Given the description of an element on the screen output the (x, y) to click on. 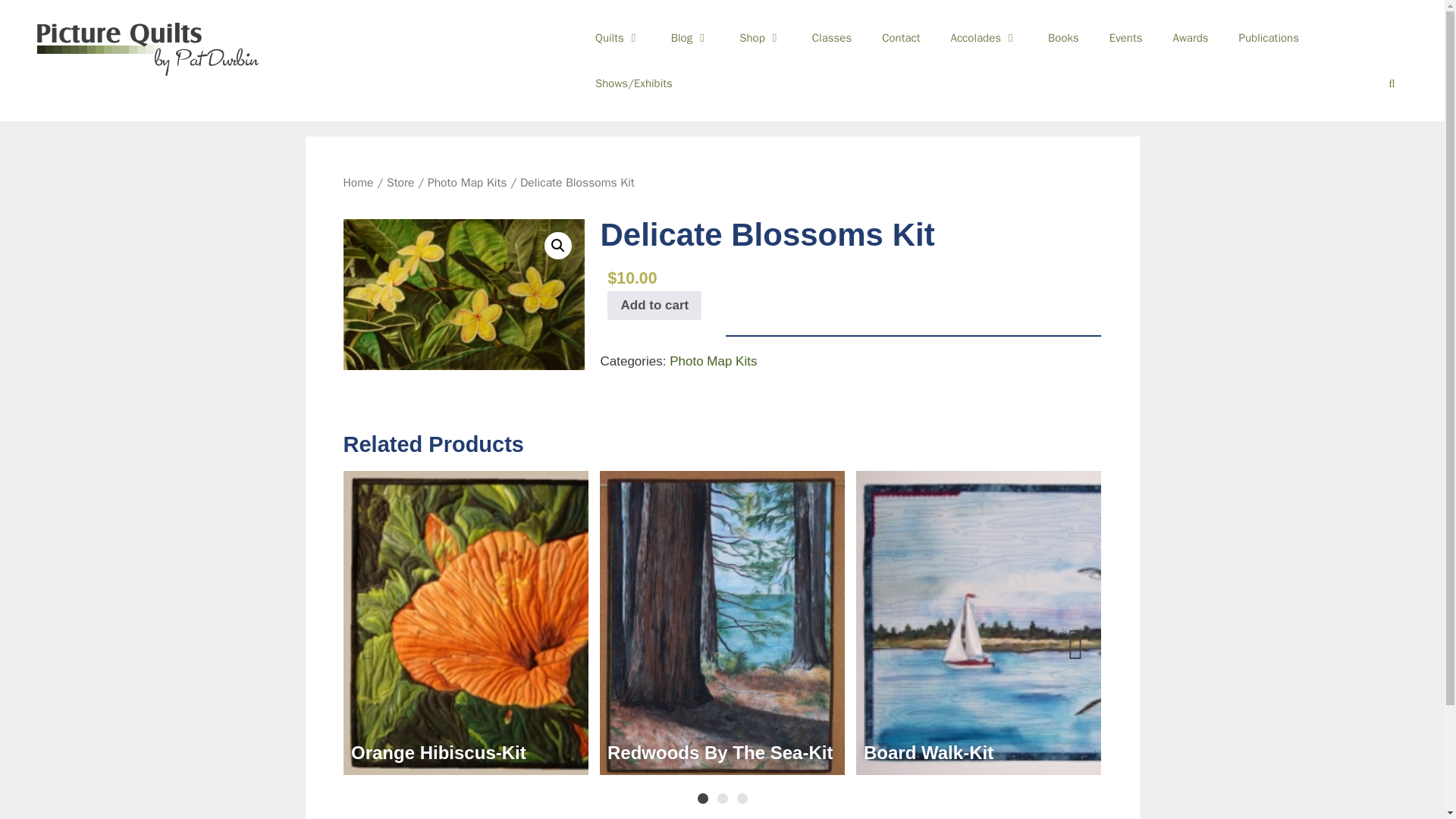
Store (400, 182)
Classes (831, 37)
Photo Map Kits (467, 182)
Home (357, 182)
Quilts (617, 37)
Awards (1190, 37)
Accolades (984, 37)
Contact (900, 37)
Shop (759, 37)
Publications (1269, 37)
Photo Map Kits (713, 361)
Add to cart (654, 305)
Books (1063, 37)
Events (1125, 37)
Blog (689, 37)
